Given the description of an element on the screen output the (x, y) to click on. 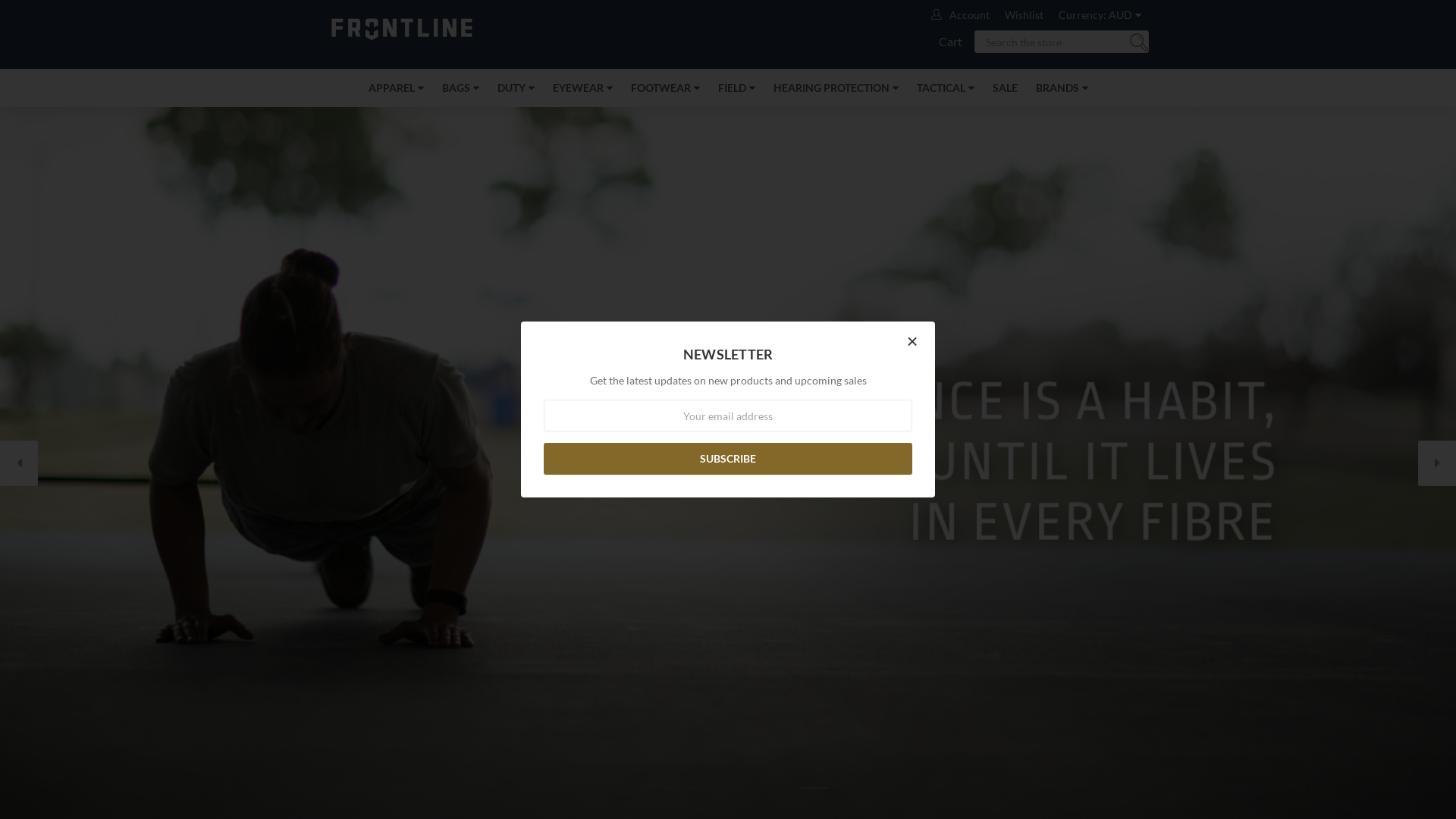
Frontline Safety Australia Element type: hover (401, 27)
Cart Element type: text (950, 41)
APPAREL Element type: text (396, 87)
4 Element type: text (773, 787)
Wishlist Element type: text (1024, 15)
Currency: AUD Element type: text (1099, 15)
TACTICAL Element type: text (944, 87)
5 Element type: text (818, 787)
FOOTWEAR Element type: text (665, 87)
BAGS Element type: text (459, 87)
3 Element type: text (727, 787)
2 Element type: text (682, 787)
FIELD Element type: text (735, 87)
DUTY Element type: text (515, 87)
HEARING PROTECTION Element type: text (835, 87)
1 Element type: text (636, 787)
SALE Element type: text (1004, 87)
EYEWEAR Element type: text (581, 87)
BRANDS Element type: text (1061, 87)
Account Element type: text (969, 15)
Subscribe Element type: text (727, 458)
